Given the description of an element on the screen output the (x, y) to click on. 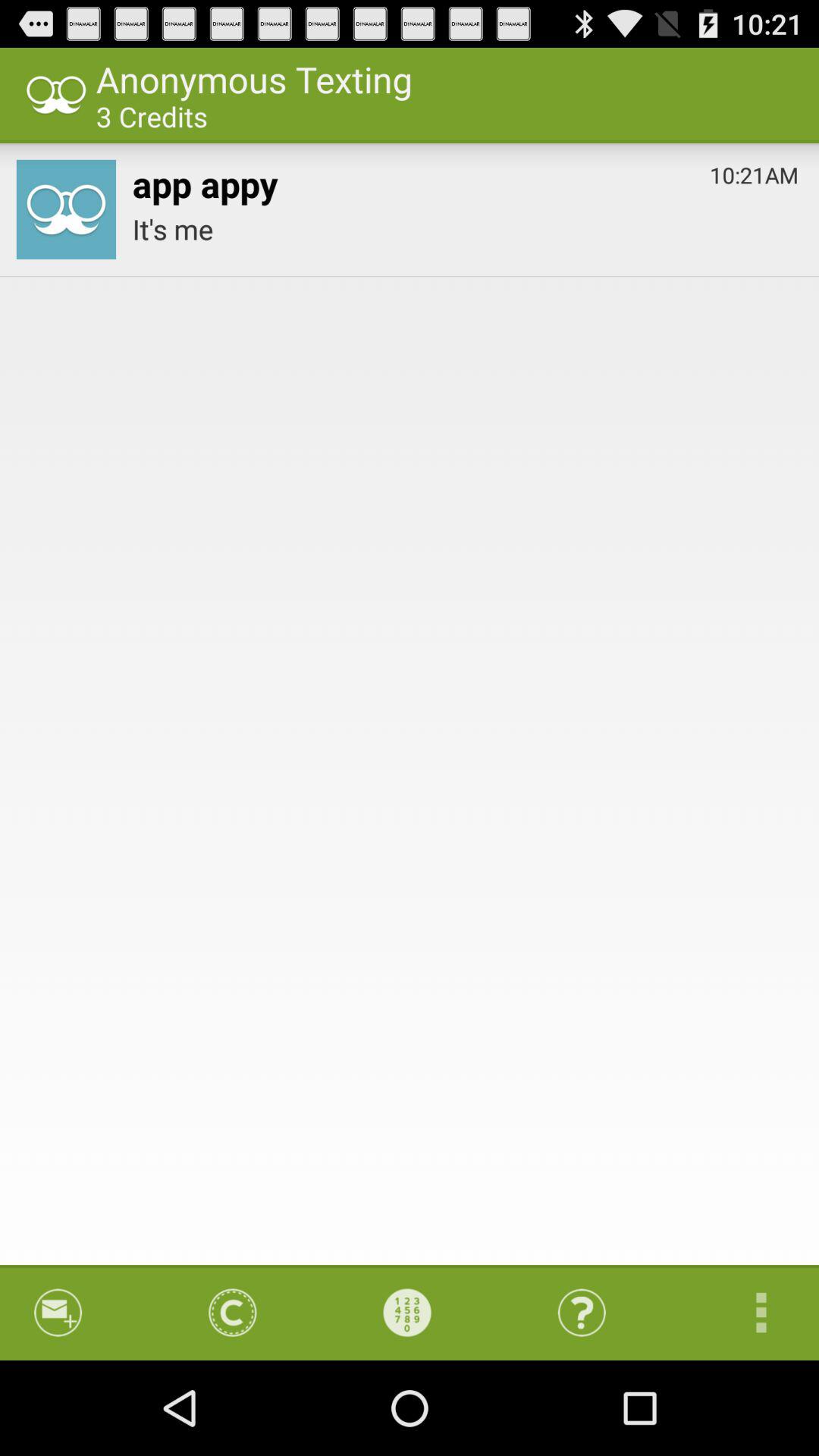
open the it's me app (465, 228)
